Given the description of an element on the screen output the (x, y) to click on. 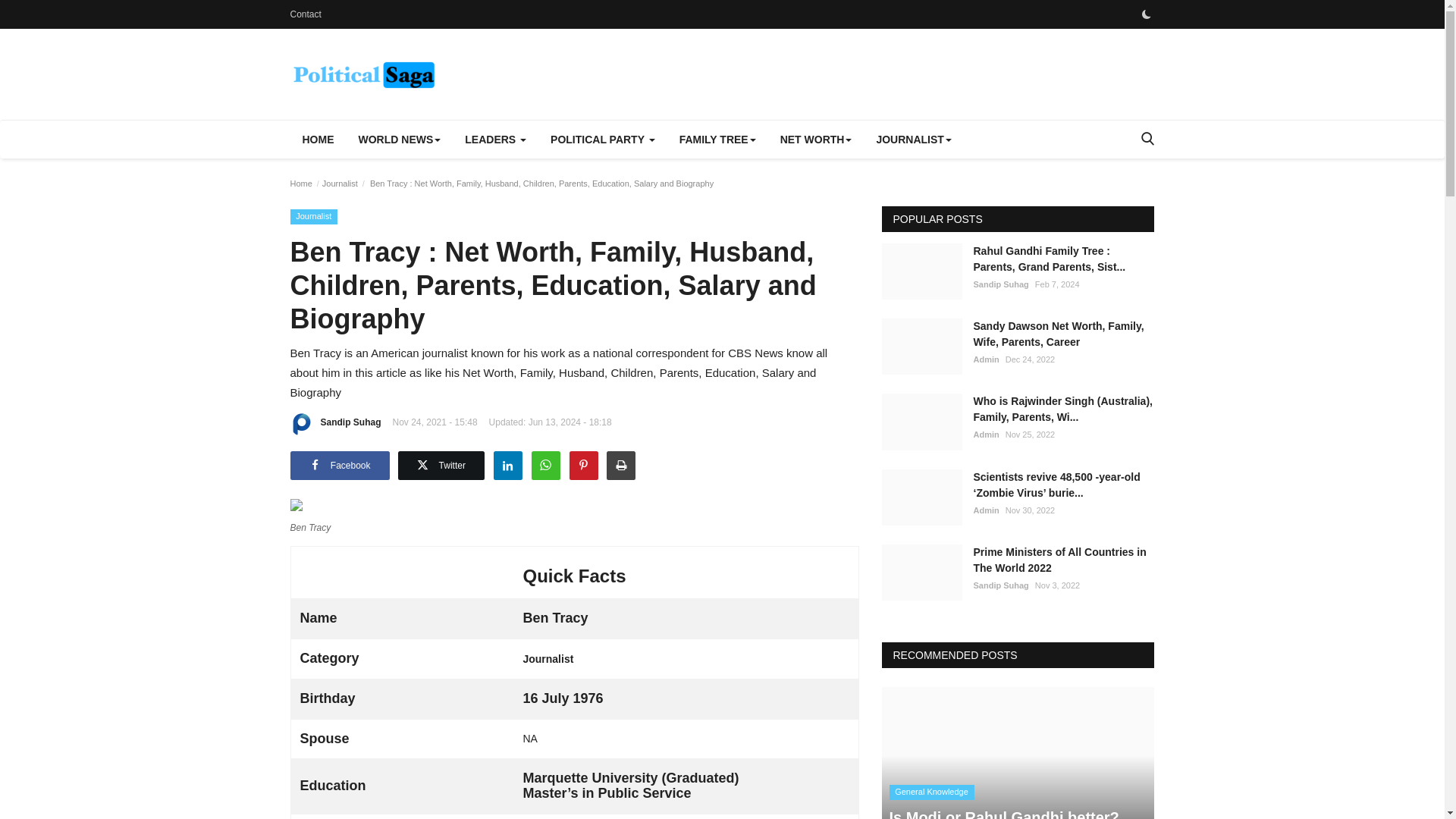
HOME (317, 139)
LEADERS (495, 139)
WORLD NEWS (399, 139)
Contact (304, 14)
dark (1145, 14)
